Given the description of an element on the screen output the (x, y) to click on. 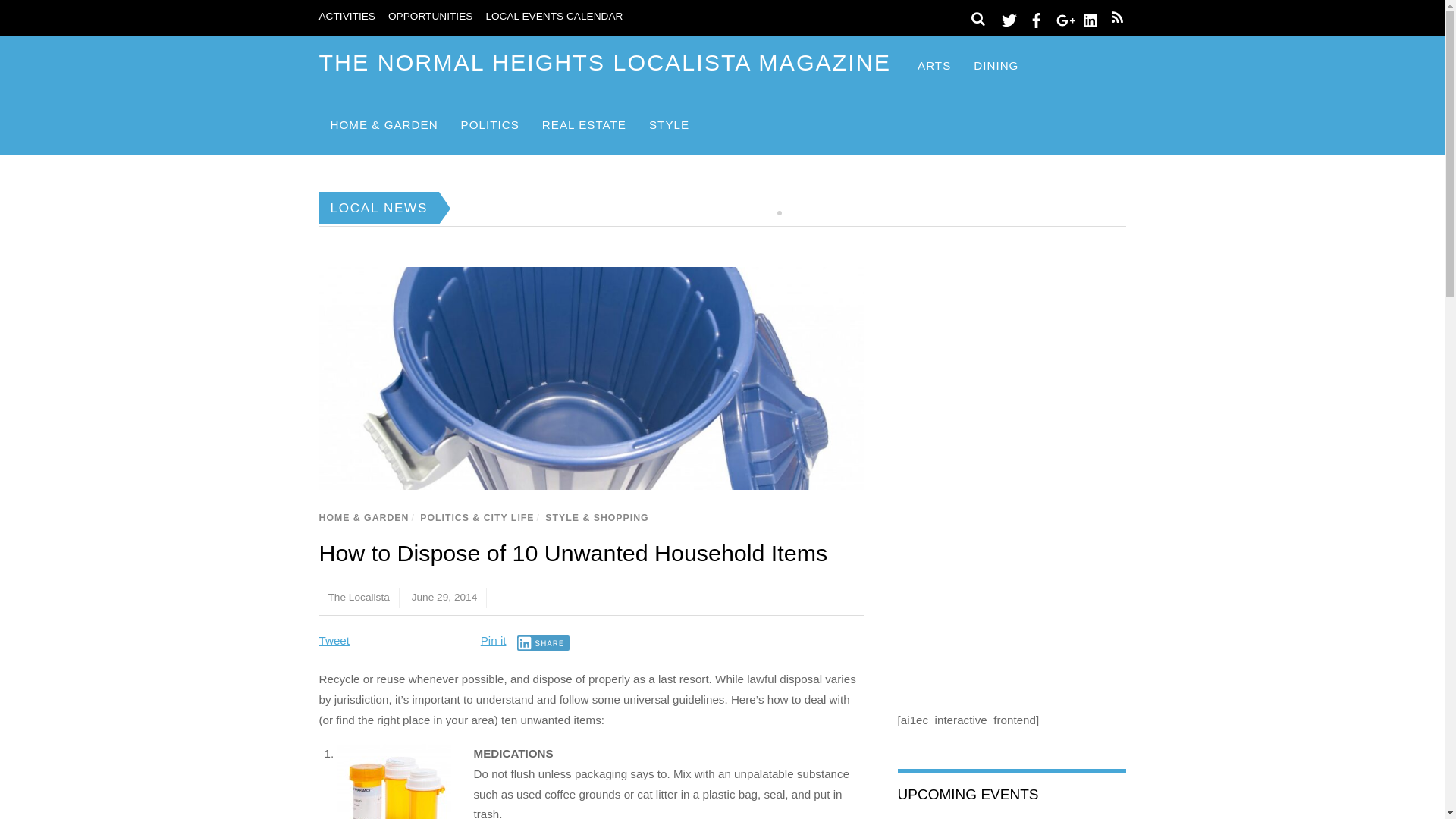
The Localista (357, 596)
Advertisement (1011, 557)
ACTIVITIES (346, 16)
How to Dispose of 10 Unwanted Household Items (572, 552)
OPPORTUNITIES (429, 16)
LOCAL EVENTS CALENDAR (553, 16)
The Normal Heights Localista Magazine (604, 62)
POLITICS (490, 125)
ARTS (933, 66)
THE NORMAL HEIGHTS LOCALISTA MAGAZINE (604, 62)
STYLE (668, 125)
Tweet (333, 640)
DINING (995, 66)
REAL ESTATE (584, 125)
